Given the description of an element on the screen output the (x, y) to click on. 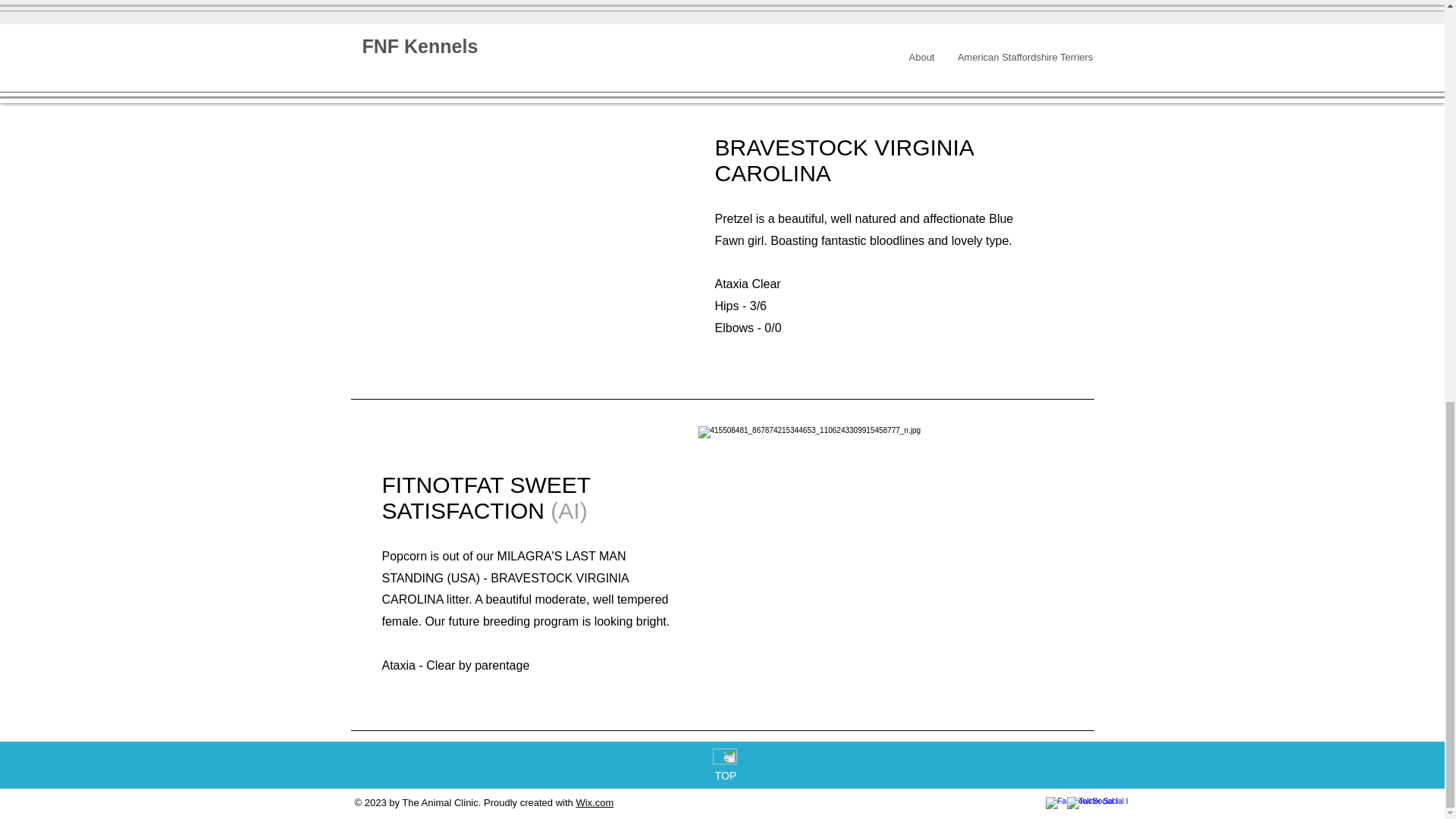
Wix.com (593, 802)
TOP (725, 775)
